Given the description of an element on the screen output the (x, y) to click on. 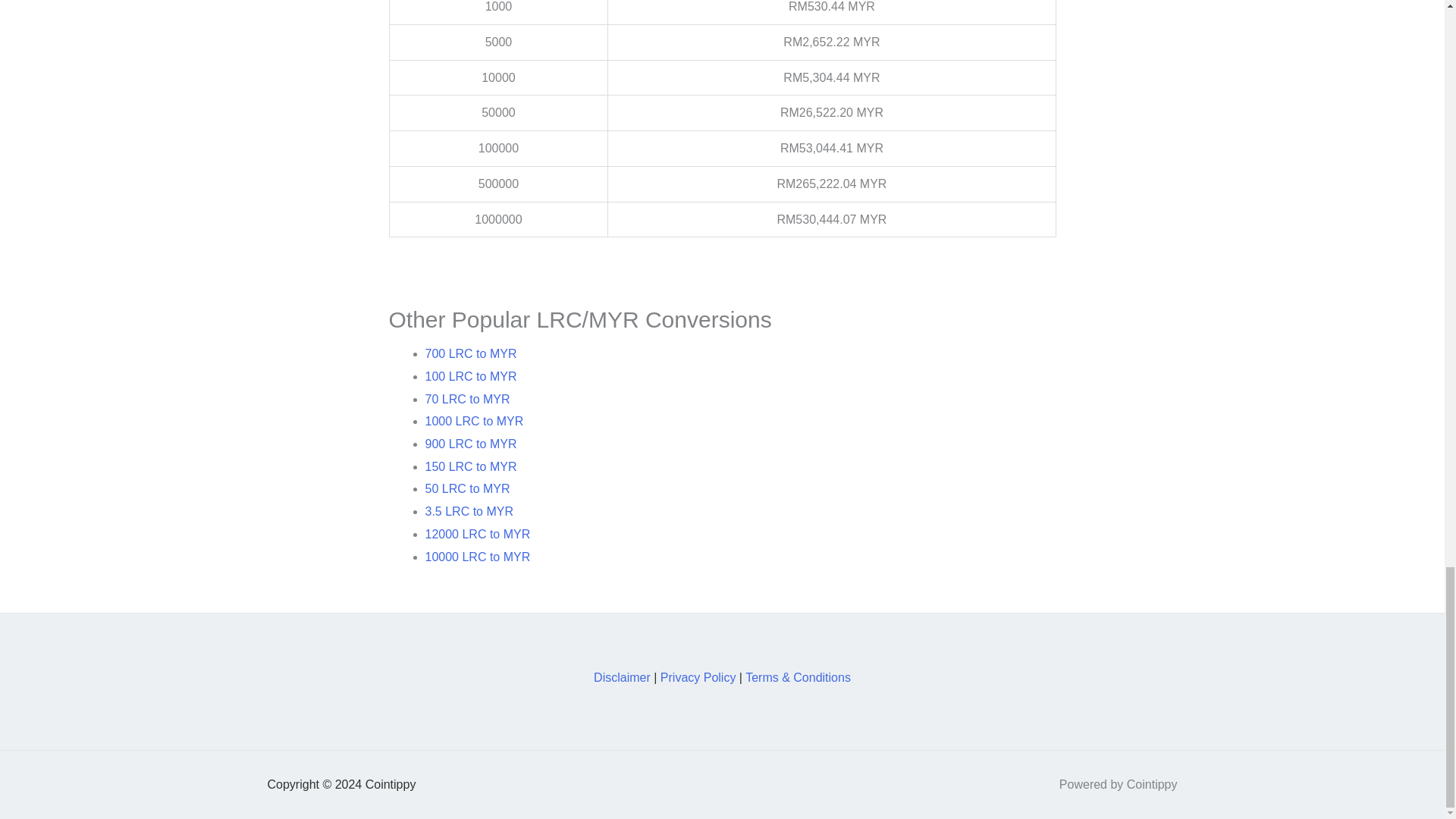
900 LRC to MYR (470, 443)
10000 LRC to MYR (477, 556)
12000 LRC to MYR (477, 533)
100 LRC to MYR (470, 376)
12000 LRC to MYR (477, 533)
700 LRC to MYR (470, 353)
Privacy Policy (698, 676)
3.5 LRC to MYR (468, 511)
3.5 LRC to MYR (468, 511)
150 LRC to MYR (470, 466)
